Given the description of an element on the screen output the (x, y) to click on. 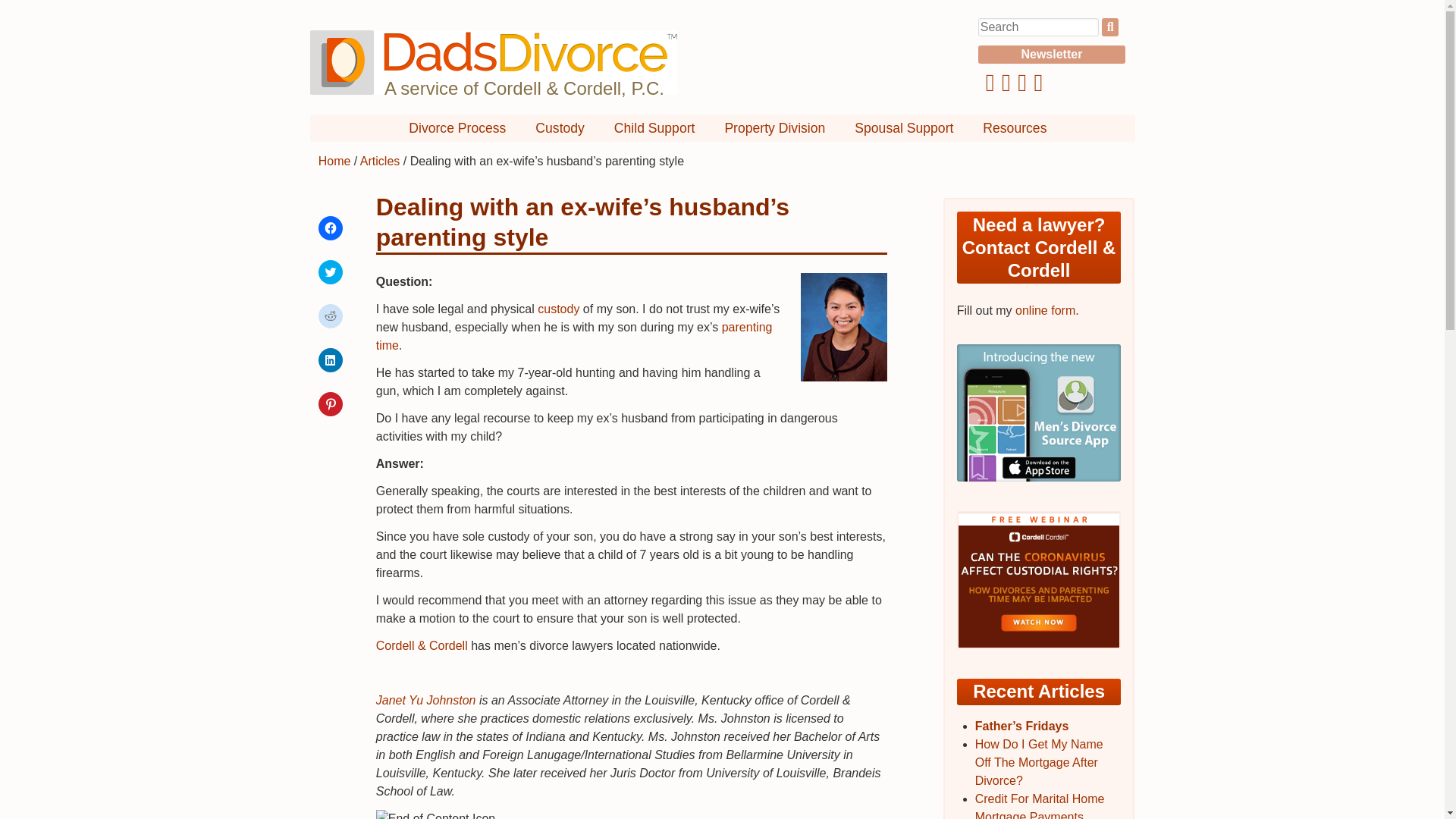
Child Support (654, 127)
Click to share on Pinterest (330, 404)
Newsletter (1051, 54)
online form (1044, 309)
Click to share on Twitter (330, 272)
Information on parenting time (574, 336)
custody (558, 308)
Child custody information (558, 308)
How Do I Get My Name Off The Mortgage After Divorce? (1039, 762)
Search for: (1038, 27)
Janet Yu Johnston (425, 699)
parenting time (574, 336)
Click to share on Reddit (330, 315)
Click to share on LinkedIn (330, 360)
Divorce lawyer Janet Yu Johnston (425, 699)
